Given the description of an element on the screen output the (x, y) to click on. 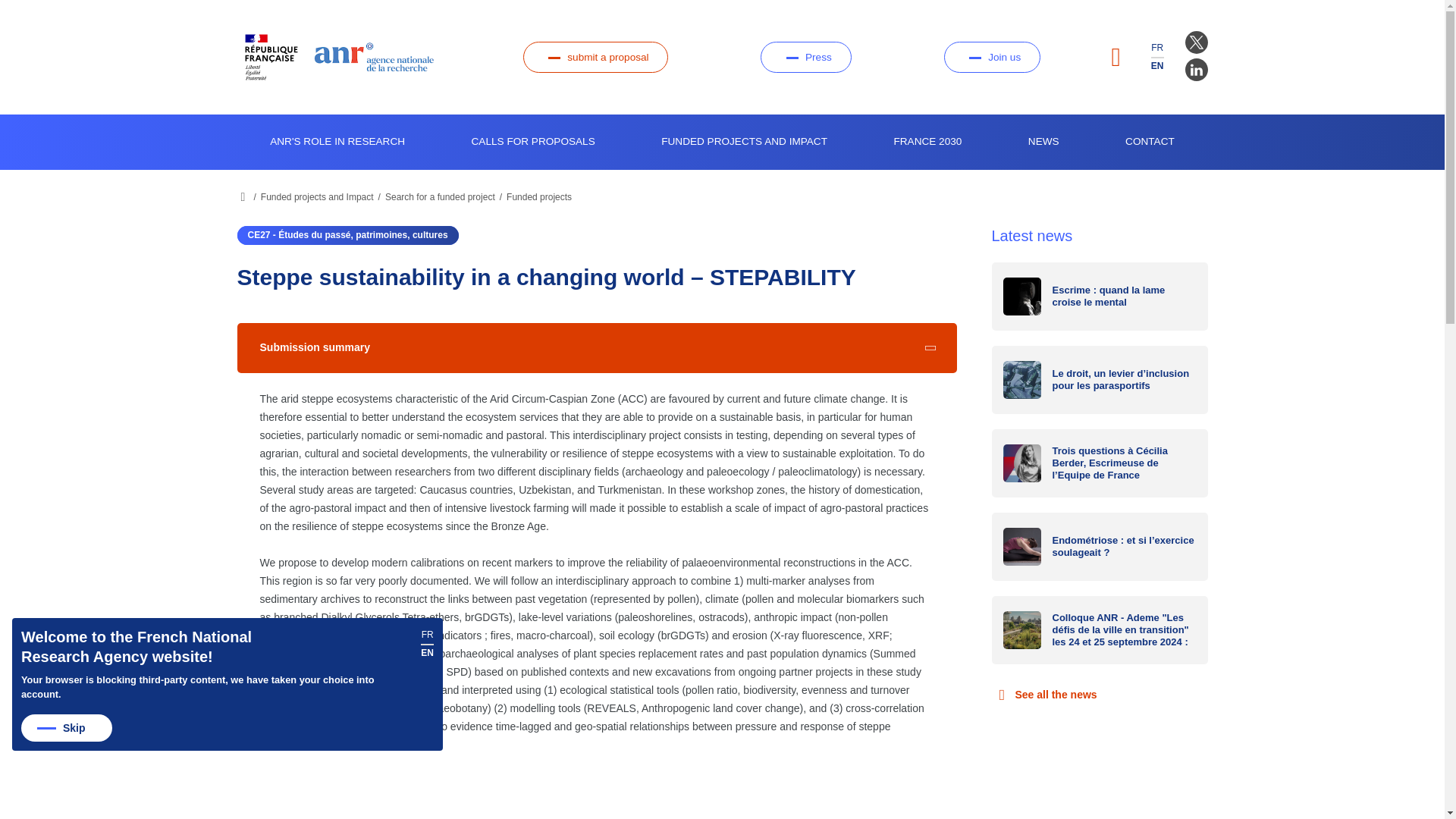
Join us (992, 56)
ANR'S ROLE IN RESEARCH (336, 141)
submit a proposal (595, 56)
Press (805, 56)
Escrime : quand la lame croise le mental (1099, 296)
FR (1157, 47)
EN (1157, 65)
